Given the description of an element on the screen output the (x, y) to click on. 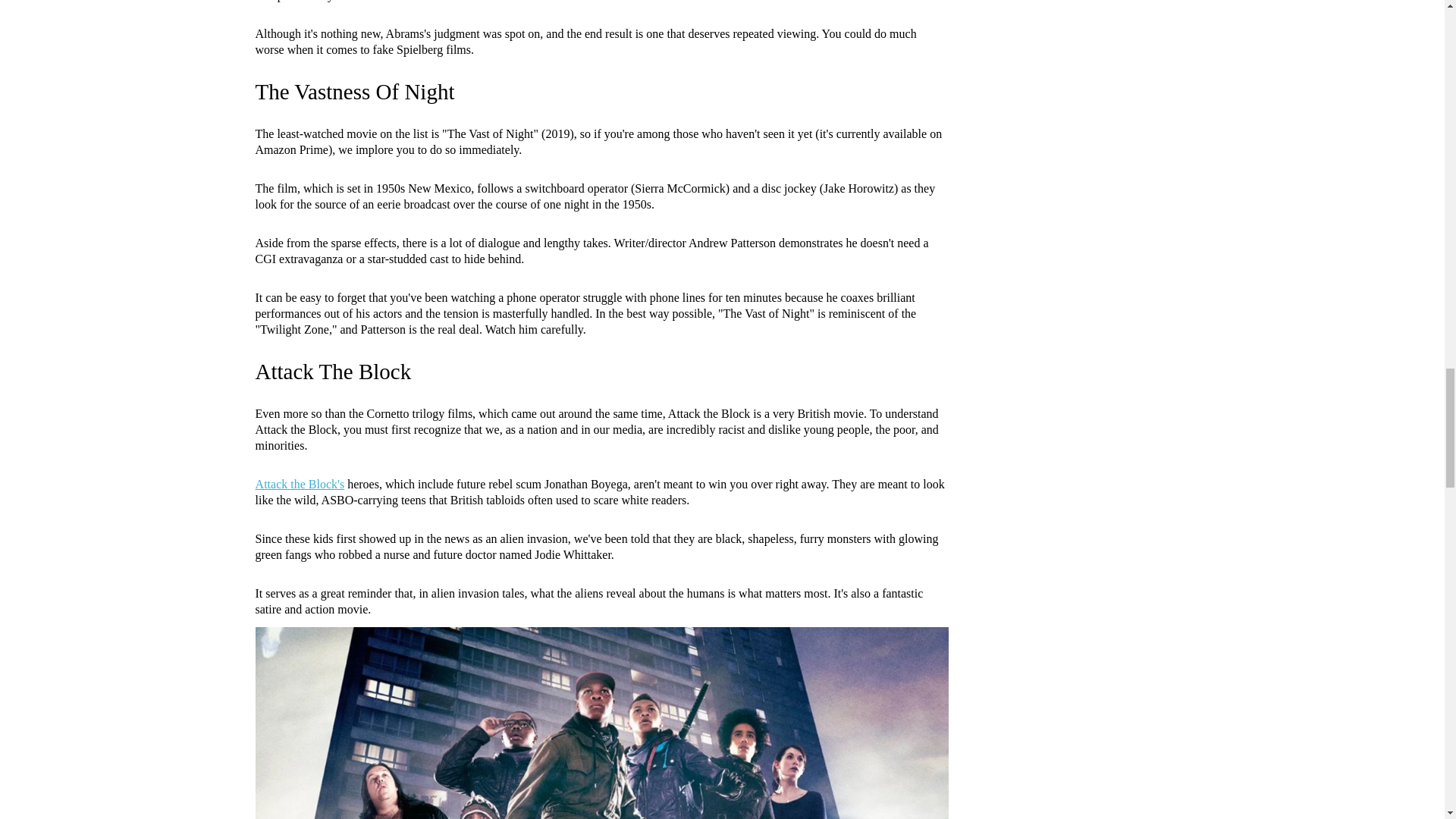
Attack the Block's (300, 483)
The Vastness Of Night (354, 91)
The Vastness Of Night (354, 91)
Attack The Block (332, 371)
Attack The Block (332, 371)
